Given the description of an element on the screen output the (x, y) to click on. 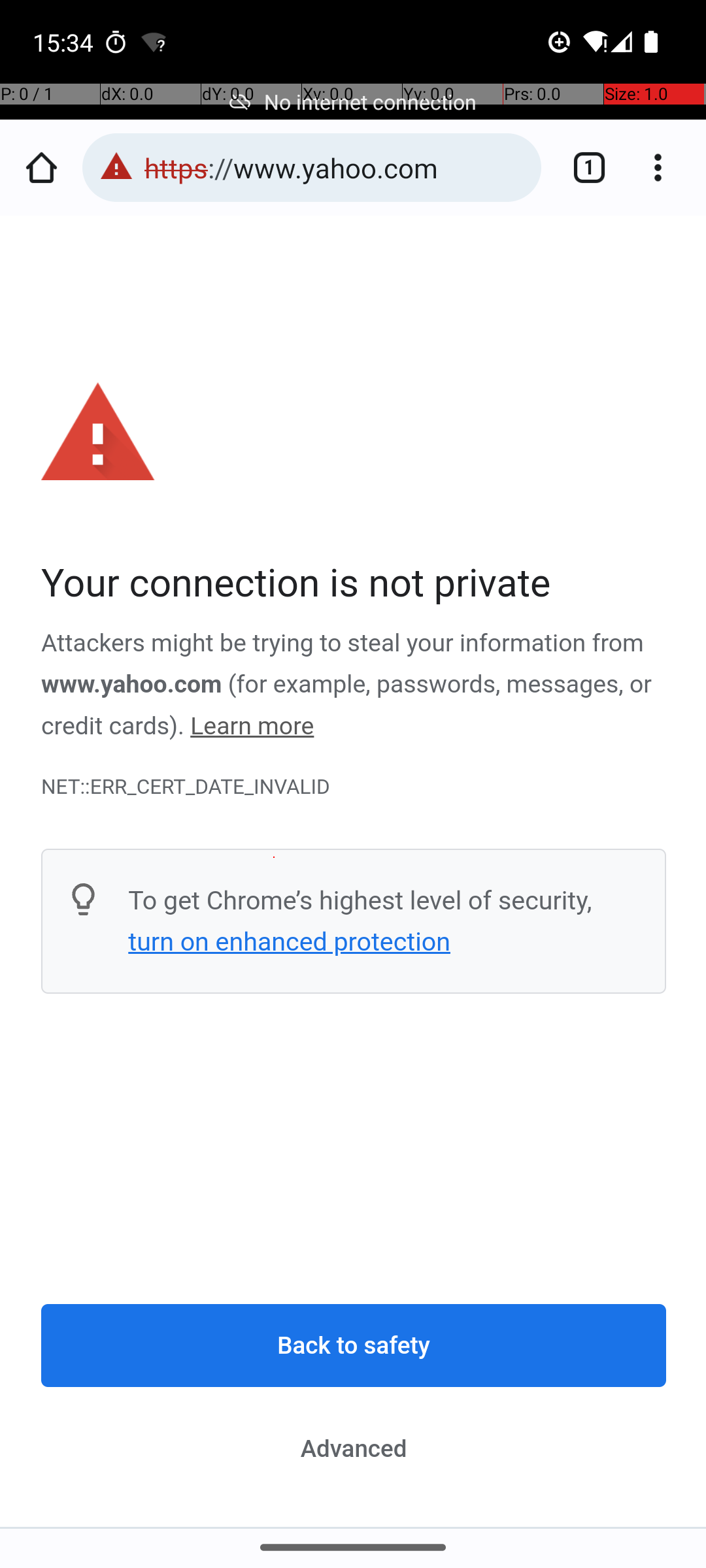
https://www.yahoo.com Element type: android.widget.EditText (335, 167)
www.yahoo.com Element type: android.widget.TextView (131, 684)
